Given the description of an element on the screen output the (x, y) to click on. 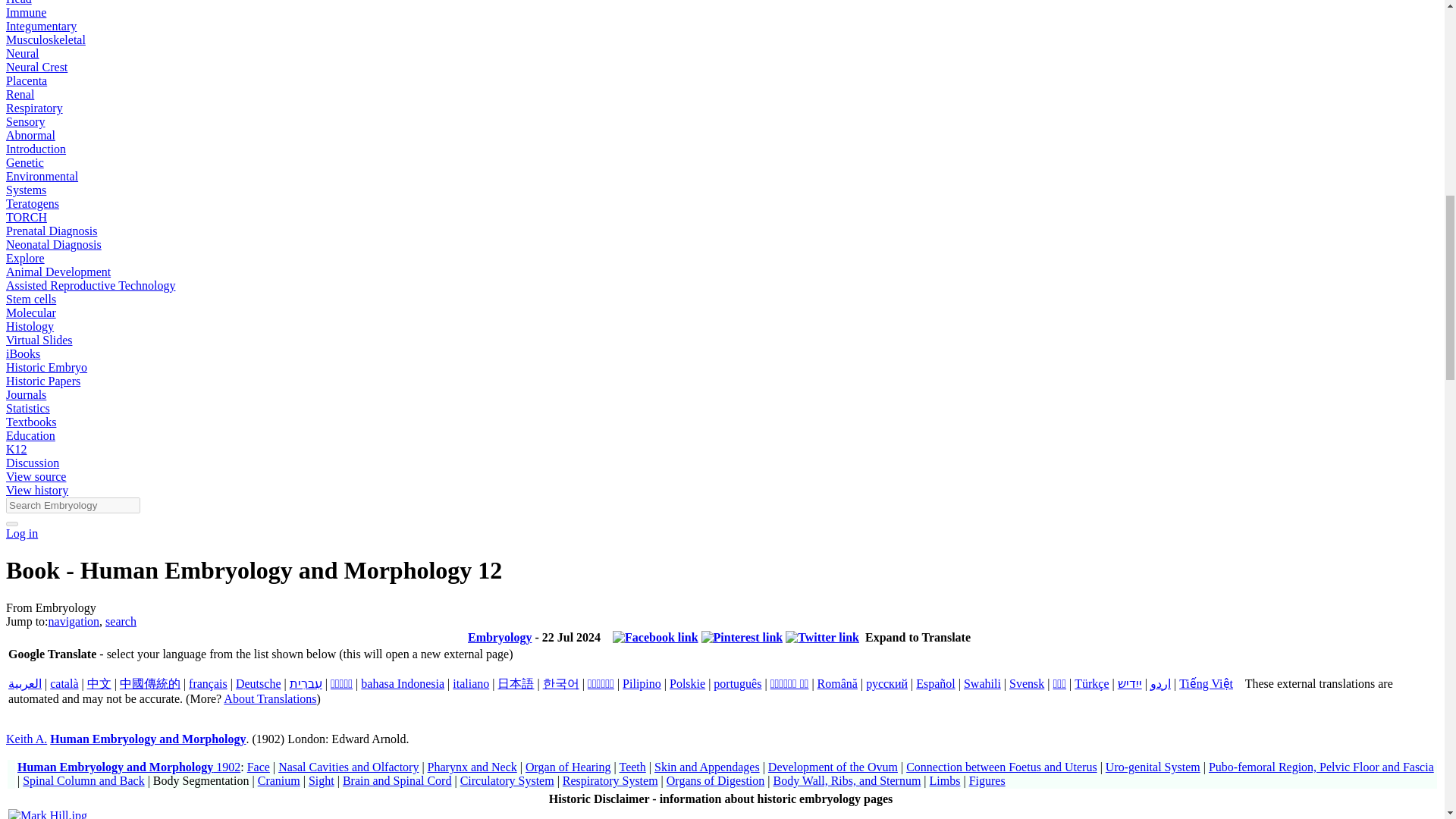
Embryology History - Arthur Keith (25, 738)
Book - Human Embryology and Morphology (128, 766)
Main Page (499, 636)
Help:Translation (269, 698)
Go to a page with this exact name if it exists (11, 523)
Book - Human Embryology and Morphology (147, 738)
